Given the description of an element on the screen output the (x, y) to click on. 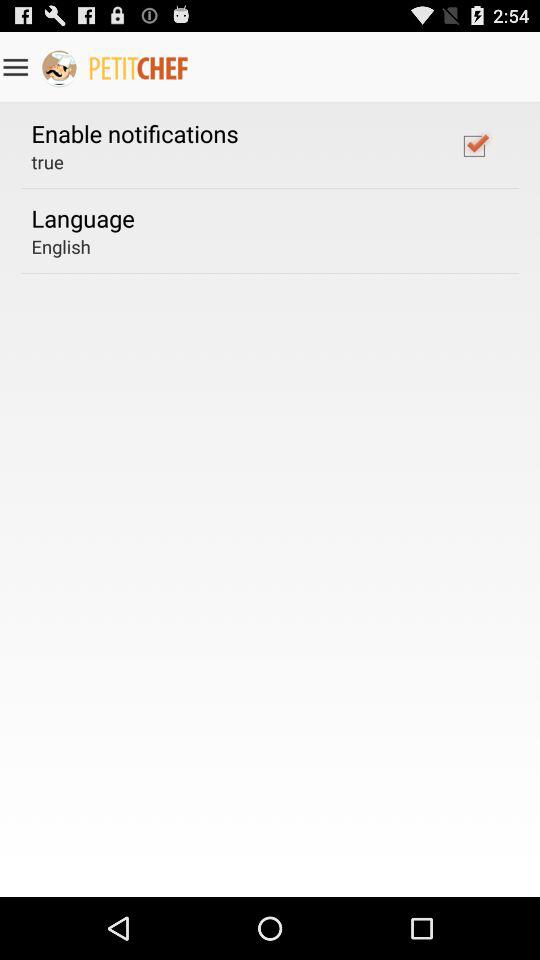
swipe until the enable notifications icon (134, 133)
